Given the description of an element on the screen output the (x, y) to click on. 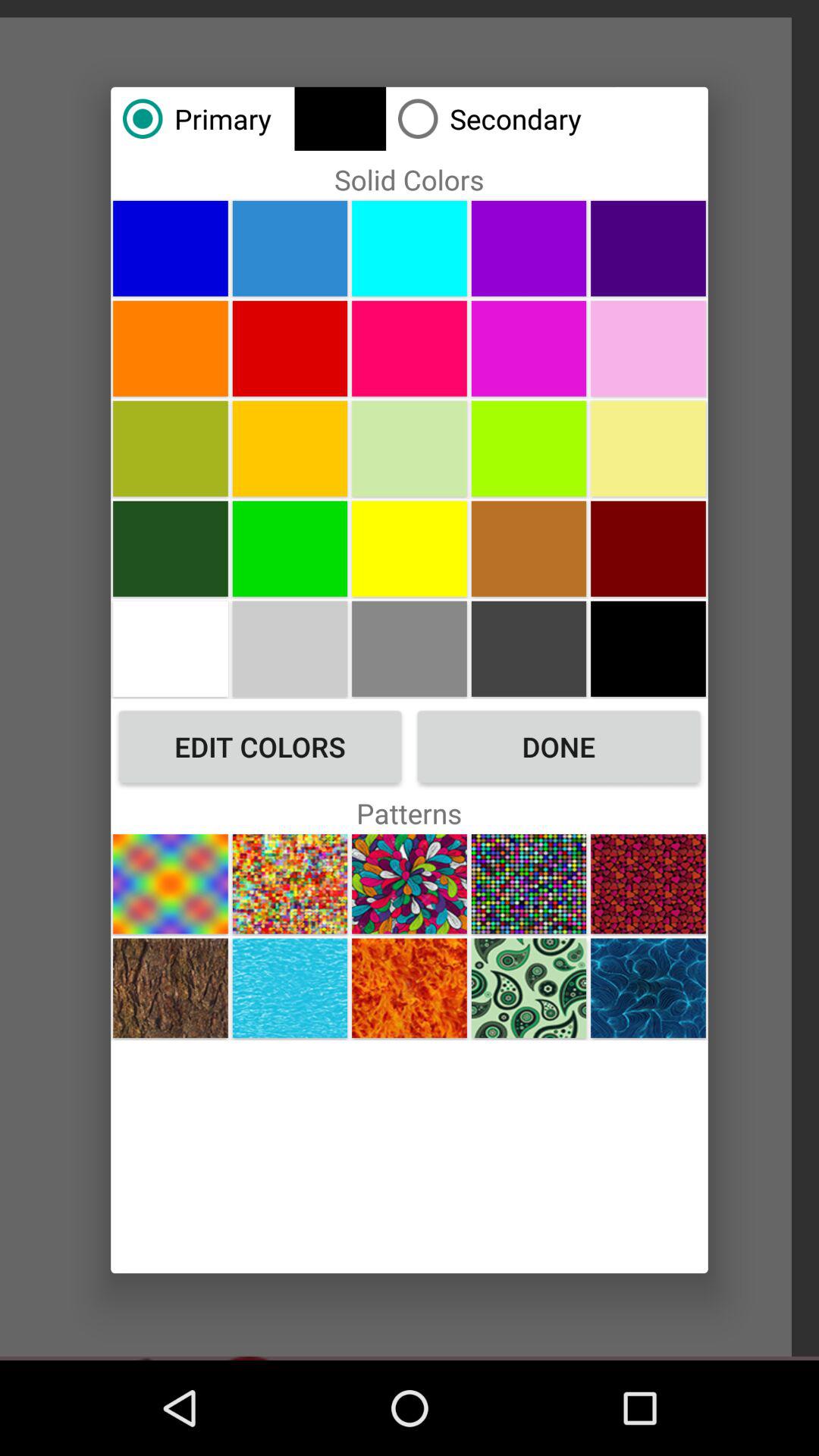
select lgrey (409, 648)
